Given the description of an element on the screen output the (x, y) to click on. 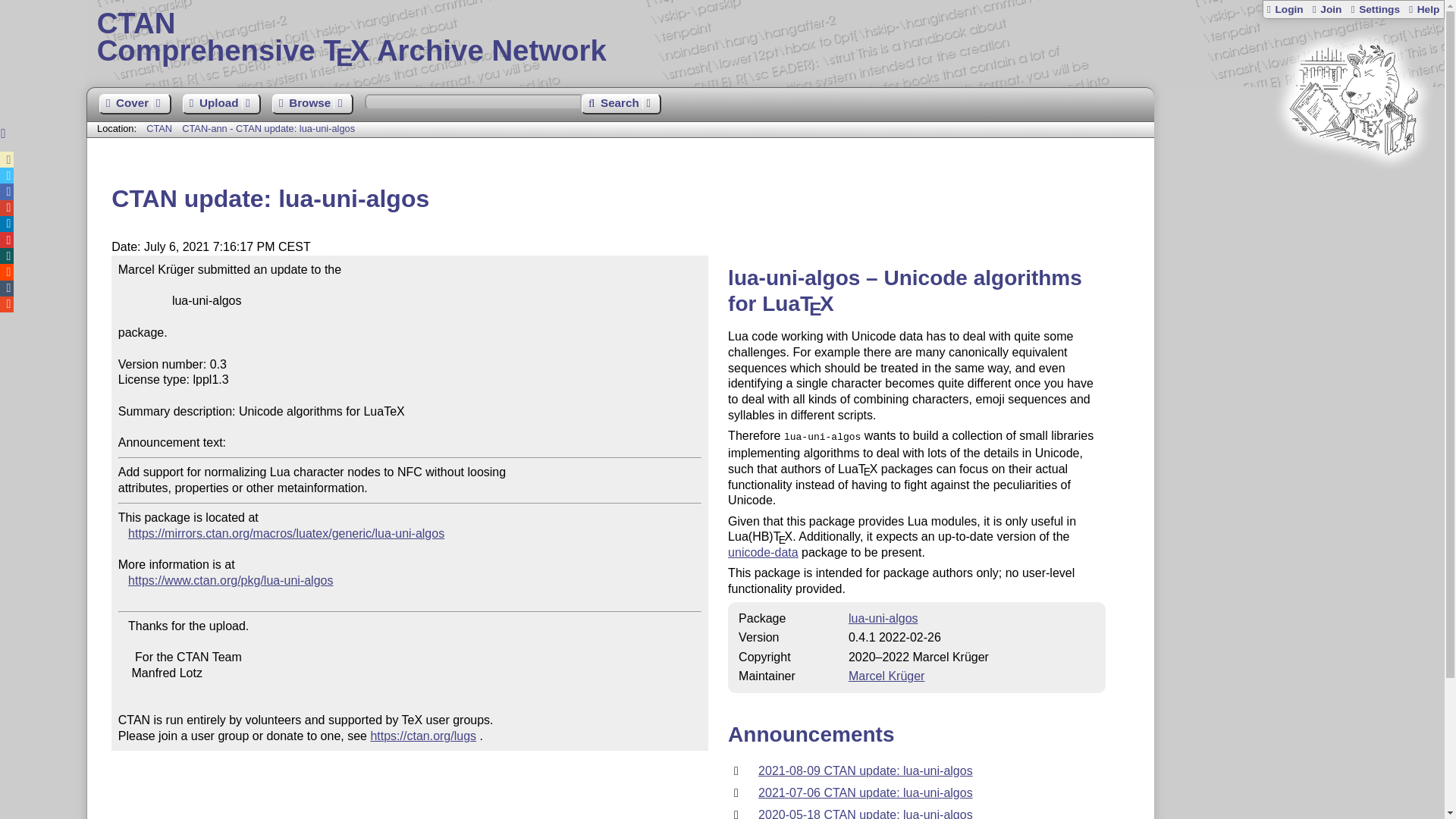
Join (1325, 8)
Login (1284, 8)
Settings (1374, 8)
CTAN (159, 128)
Cover (134, 104)
Register a new personal account on this site (765, 37)
CTAN-ann - CTAN update: lua-uni-algos (1325, 8)
2021-07-06 CTAN update: lua-uni-algos (268, 128)
2021-08-09 CTAN update: lua-uni-algos (865, 792)
